Given the description of an element on the screen output the (x, y) to click on. 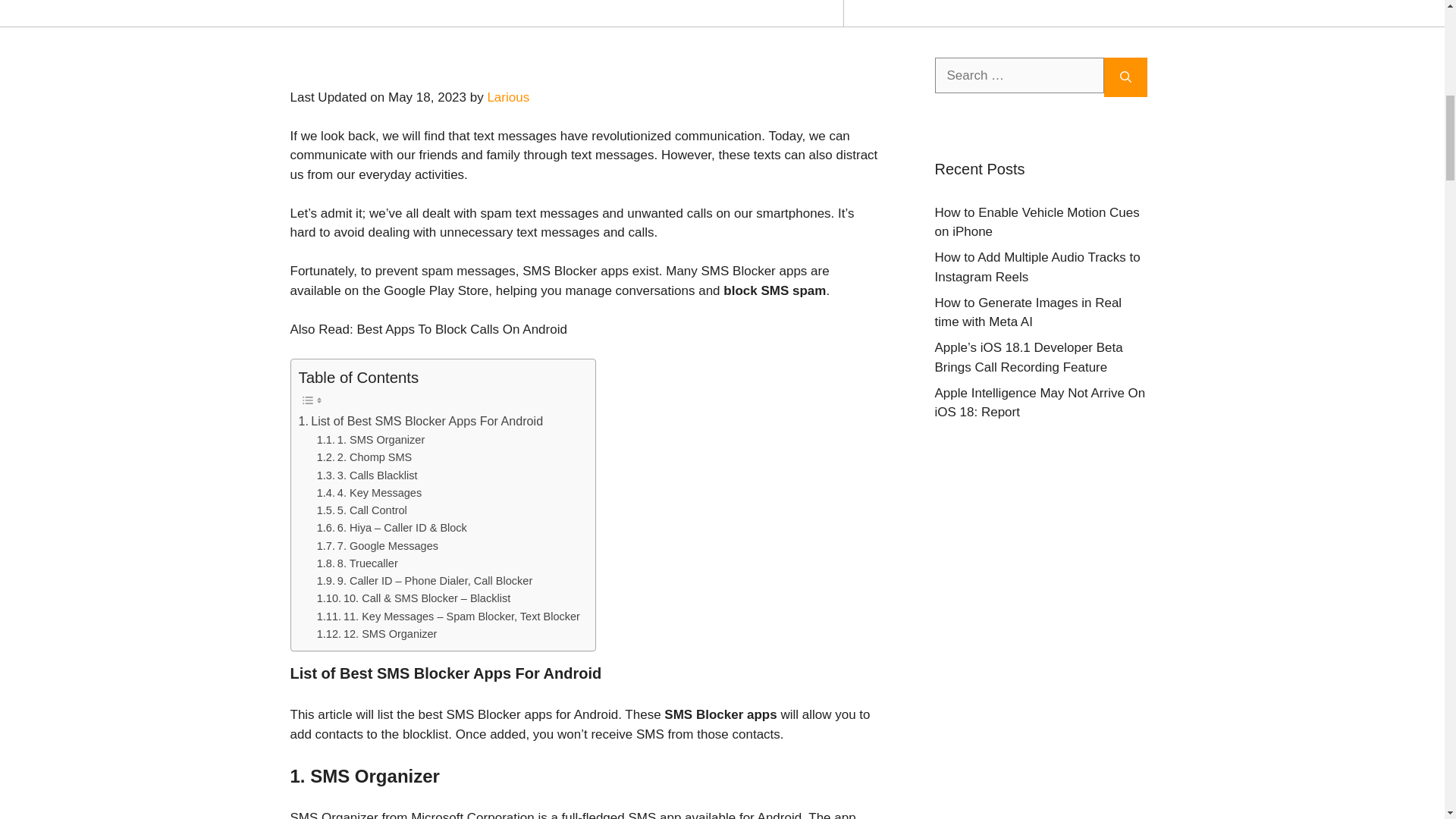
5. Call Control (362, 510)
5. Call Control (362, 510)
1. SMS Organizer (371, 439)
2. Chomp SMS (364, 457)
List of Best SMS Blocker Apps For Android (420, 421)
1. SMS Organizer (371, 439)
3. Calls Blacklist (367, 475)
List of Best SMS Blocker Apps For Android (420, 421)
Larious (507, 97)
3. Calls Blacklist (367, 475)
